Given the description of an element on the screen output the (x, y) to click on. 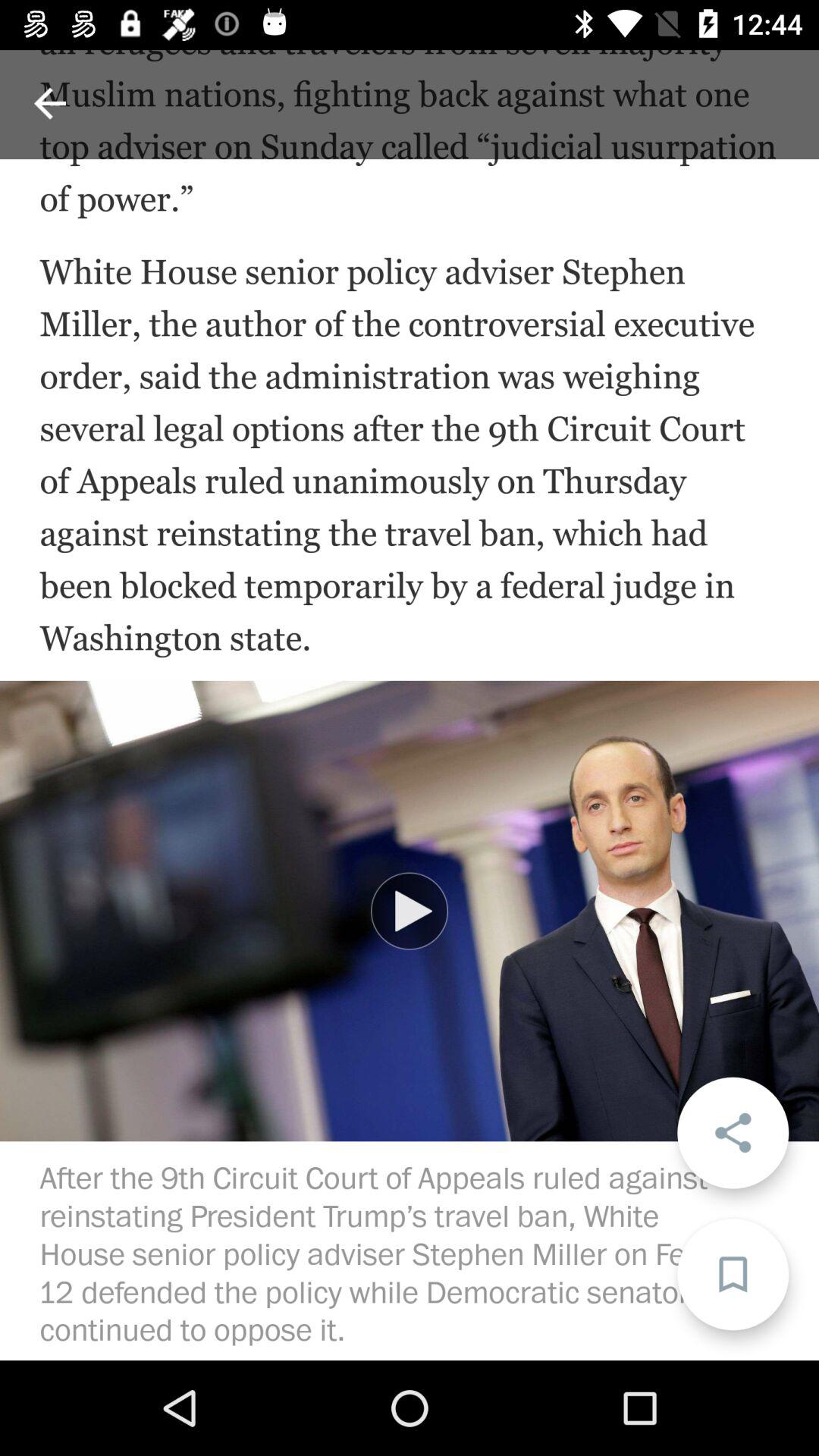
click item below white house senior icon (732, 1132)
